Given the description of an element on the screen output the (x, y) to click on. 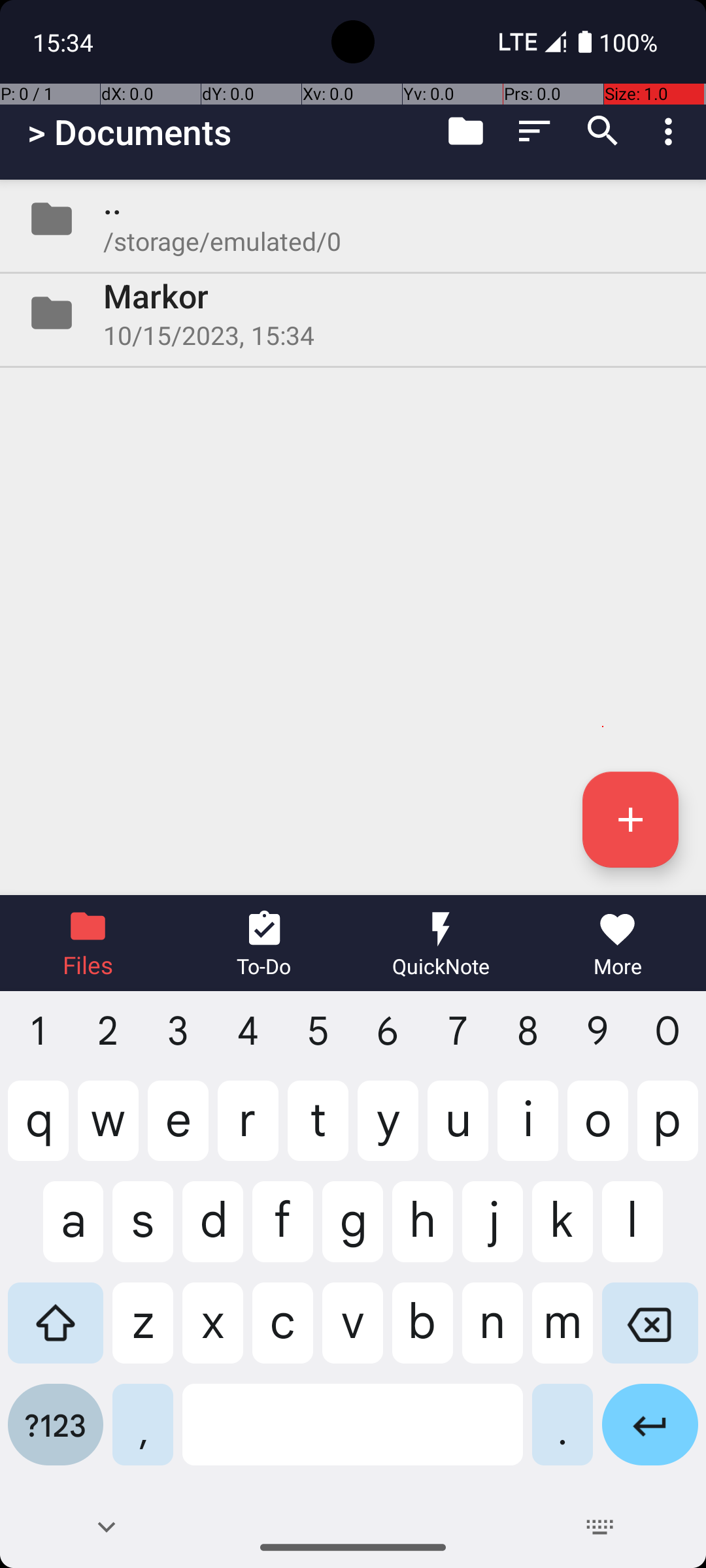
Folder Markor 10/15/2023, 15:34 Element type: android.widget.LinearLayout (353, 312)
